Given the description of an element on the screen output the (x, y) to click on. 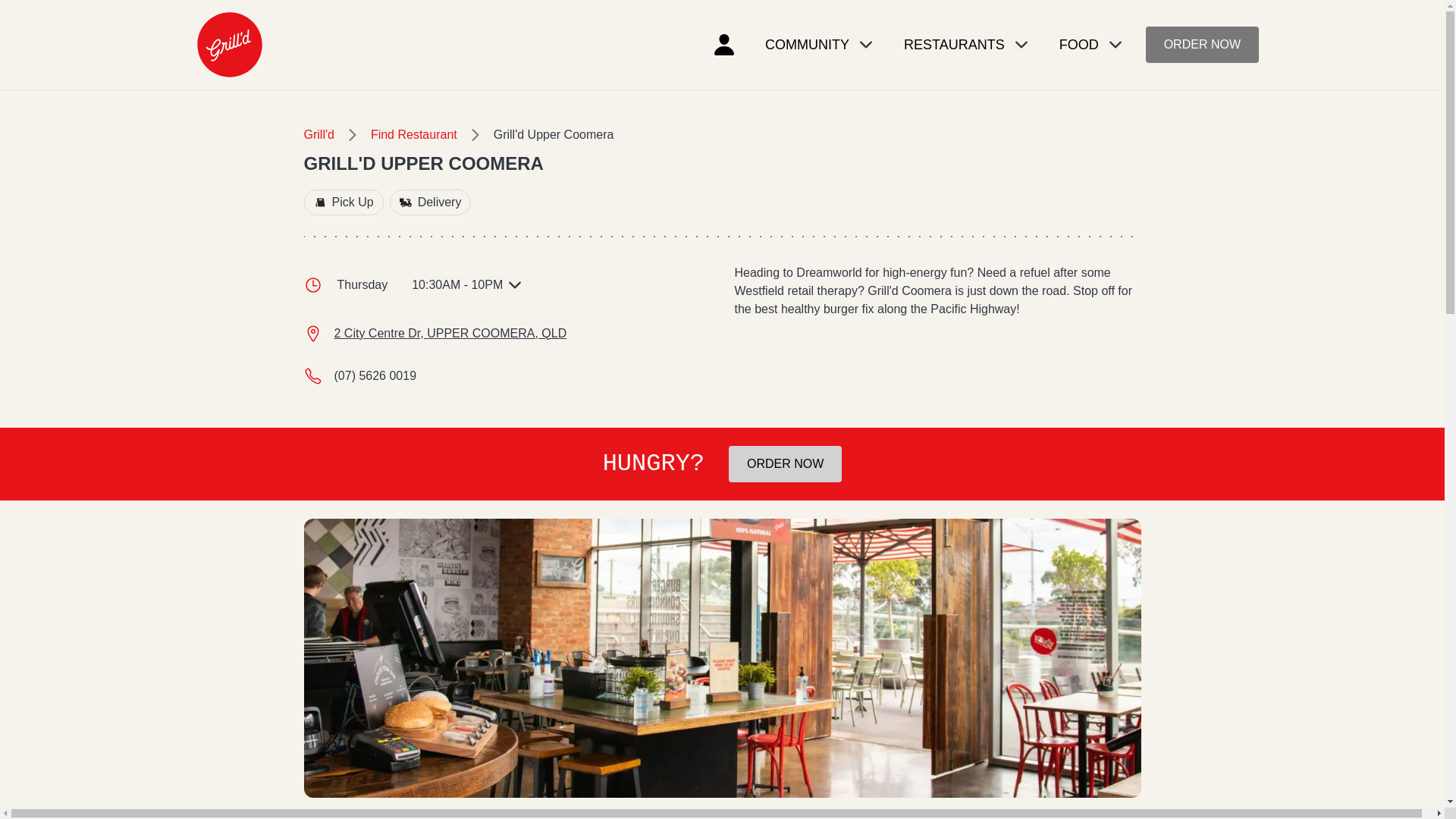
2 City Centre Dr, UPPER COOMERA, QLD (449, 333)
ORDER NOW (1202, 44)
ORDER NOW (785, 463)
Find Restaurant (414, 135)
Grill'd (317, 135)
